Given the description of an element on the screen output the (x, y) to click on. 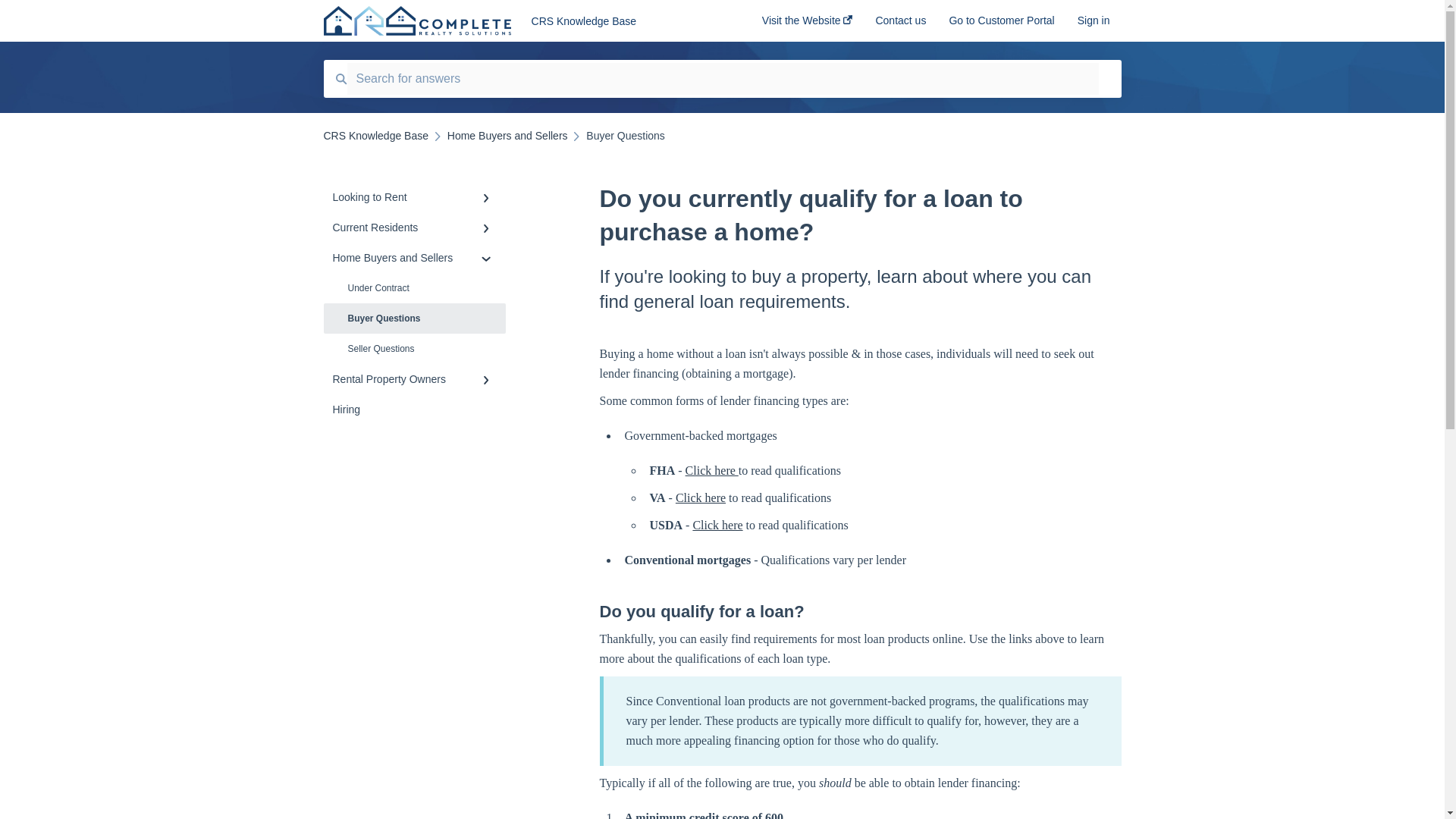
CRS Knowledge Base (375, 135)
Visit the Website (807, 25)
Contact us (900, 25)
CRS Knowledge Base (623, 21)
Looking to Rent (414, 196)
Go to Customer Portal (1001, 25)
Home Buyers and Sellers (506, 135)
